Given the description of an element on the screen output the (x, y) to click on. 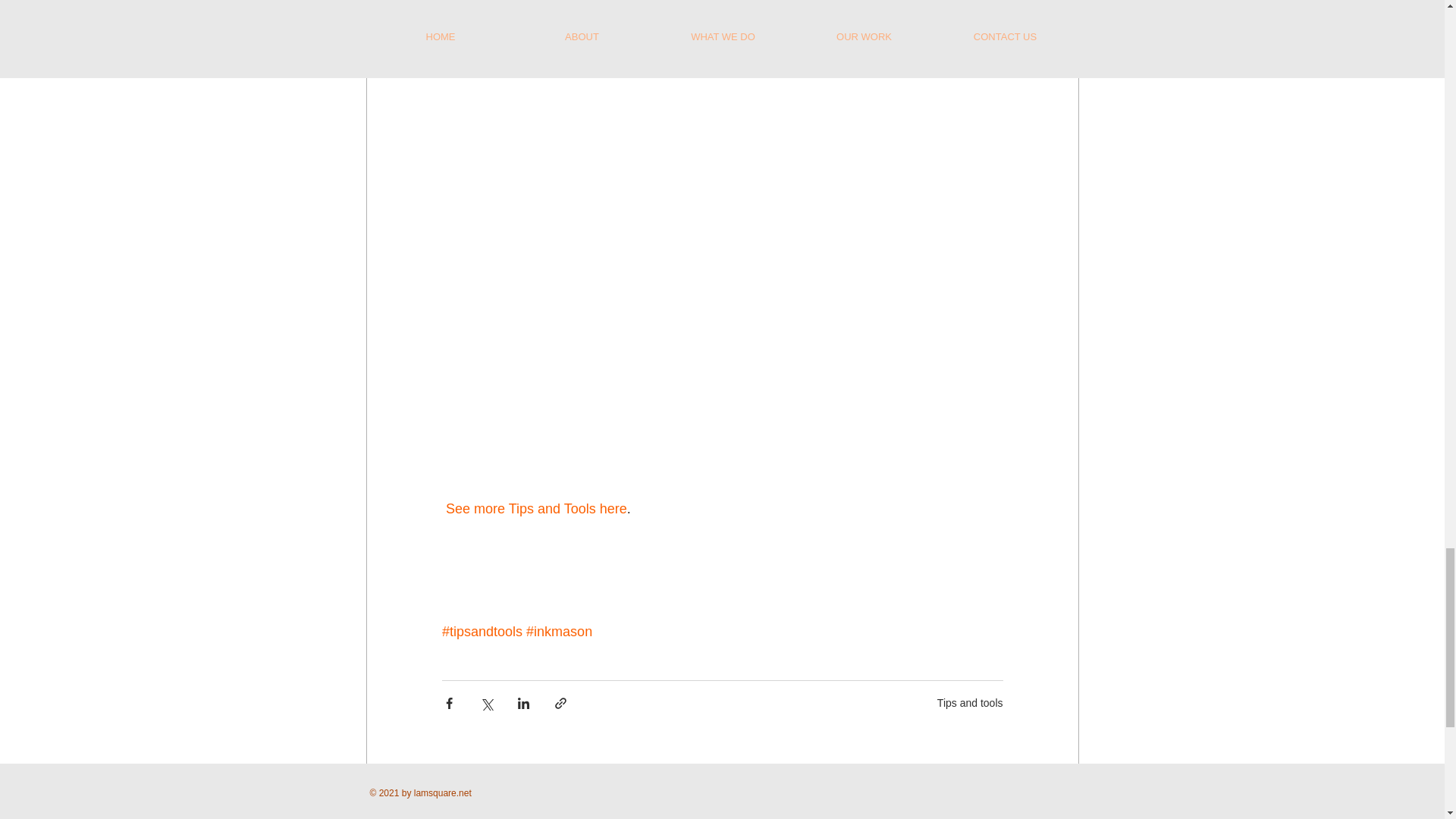
See All (1061, 801)
See more Tips and Tools here (536, 507)
Tips and tools (970, 702)
